Given the description of an element on the screen output the (x, y) to click on. 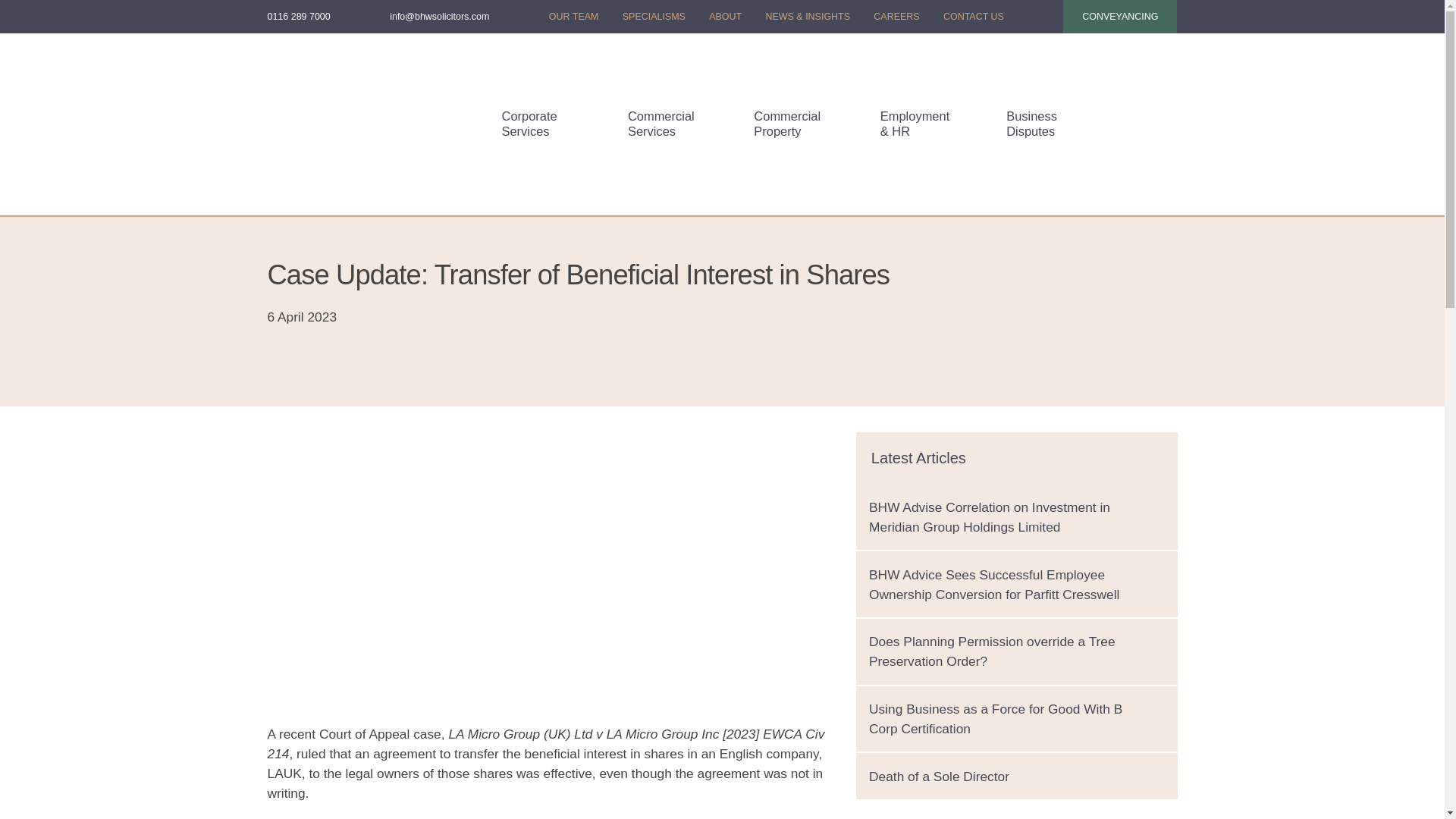
Case Update: Transfer of Beneficial Interest in Shares (547, 713)
